Given the description of an element on the screen output the (x, y) to click on. 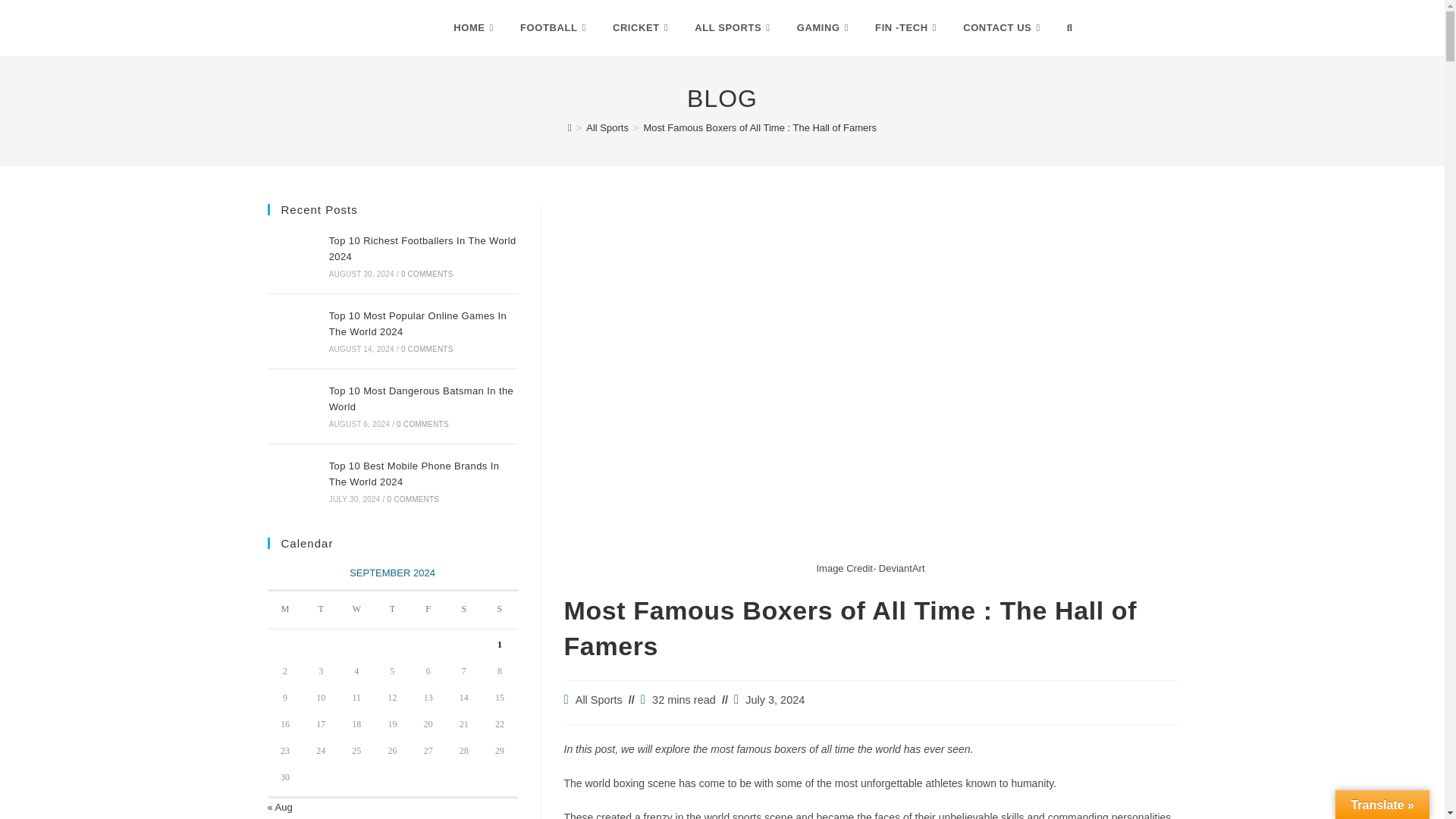
Sunday (498, 609)
Top 10 Most Popular Online Games In The World 2024 (292, 331)
Top 10 Best Mobile Phone Brands In The World 2024 (292, 480)
SPORTSHUBNET (346, 27)
CRICKET (641, 28)
ALL SPORTS (733, 28)
FOOTBALL (554, 28)
Thursday (392, 609)
Wednesday (356, 609)
Top 10 Most Dangerous Batsman In the World (292, 406)
